Given the description of an element on the screen output the (x, y) to click on. 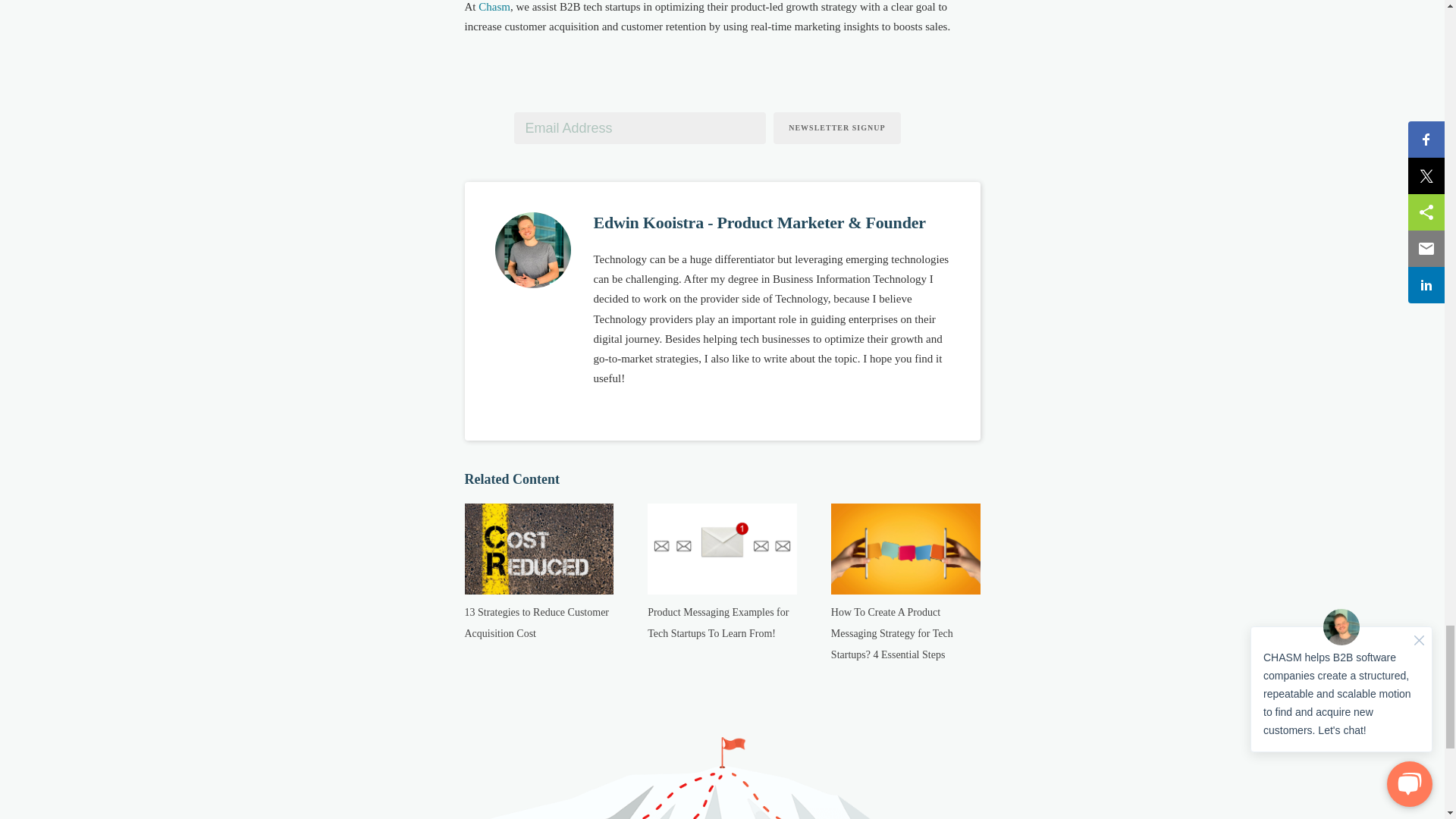
13 Strategies to Reduce Customer Acquisition Cost (536, 622)
13 Strategies to Reduce Customer Acquisition Cost (536, 622)
Product Messaging Examples for Tech Startups To Learn From! (718, 622)
Chasm (495, 6)
NEWSLETTER SIGNUP (836, 128)
Product Messaging Examples for Tech Startups To Learn From! (718, 622)
